Given the description of an element on the screen output the (x, y) to click on. 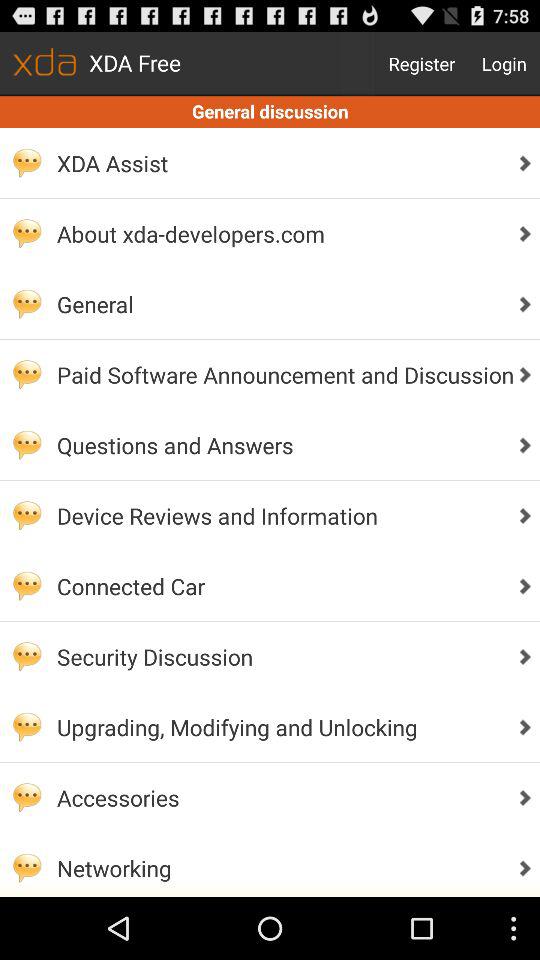
jump until the paid software announcement icon (280, 374)
